Given the description of an element on the screen output the (x, y) to click on. 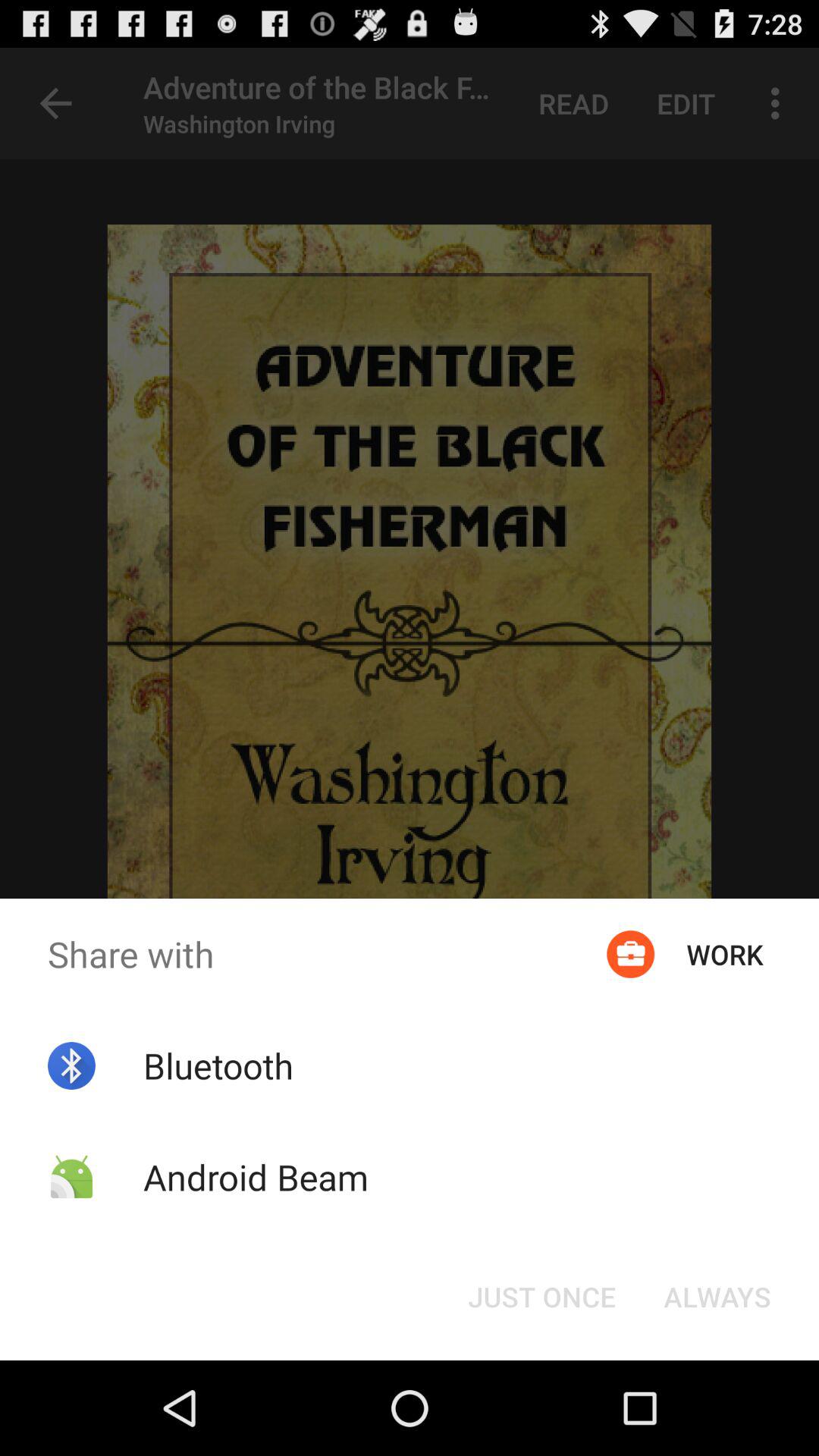
press button at the bottom right corner (717, 1296)
